Given the description of an element on the screen output the (x, y) to click on. 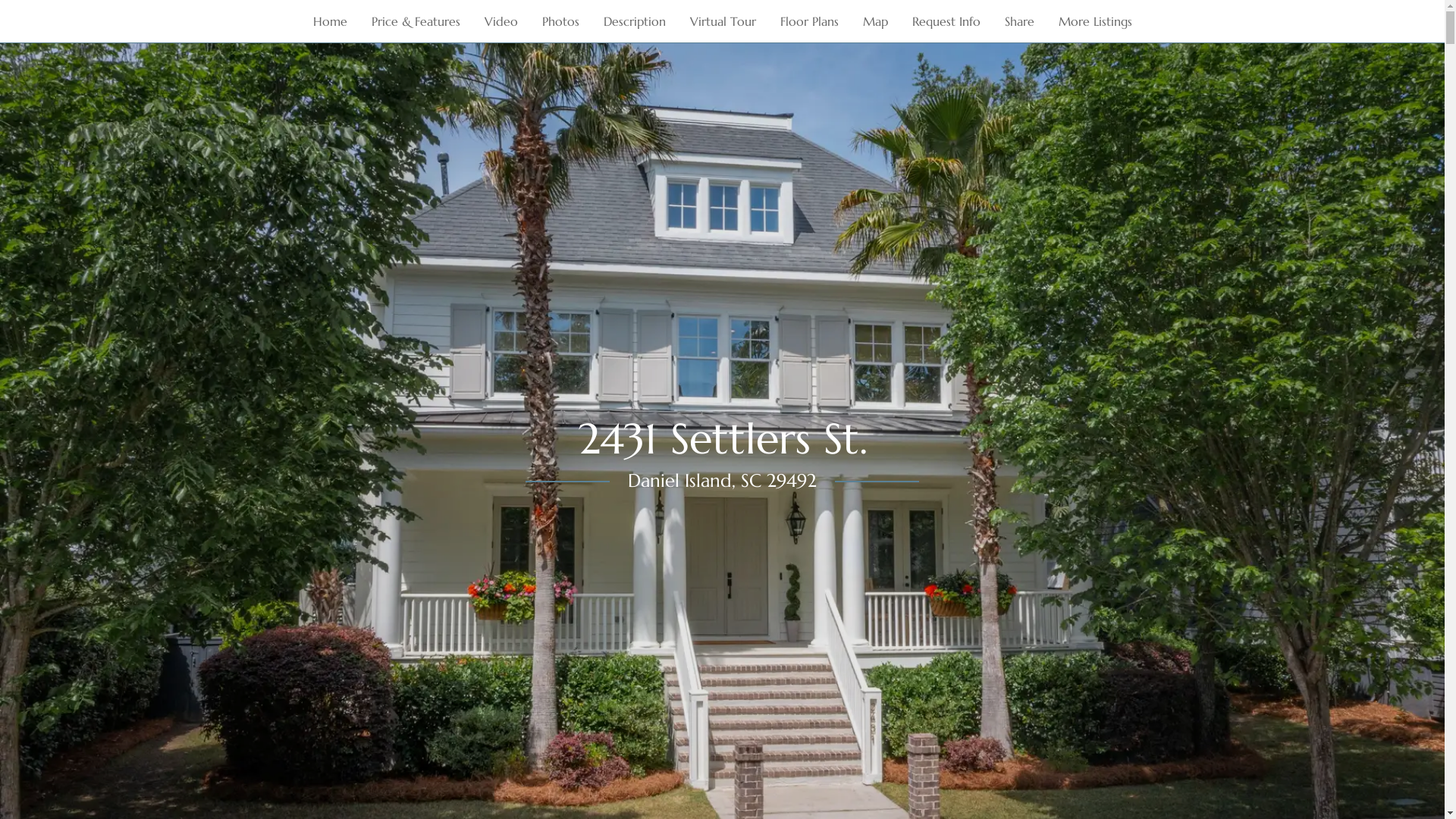
More Listings Element type: text (1095, 21)
Home Element type: text (329, 21)
Description Element type: text (634, 21)
Photos Element type: text (559, 21)
Price & Features Element type: text (415, 21)
Share Element type: text (1018, 21)
Video Element type: text (500, 21)
Map Element type: text (875, 21)
Floor Plans Element type: text (808, 21)
Request Info Element type: text (945, 21)
Virtual Tour Element type: text (722, 21)
